Given the description of an element on the screen output the (x, y) to click on. 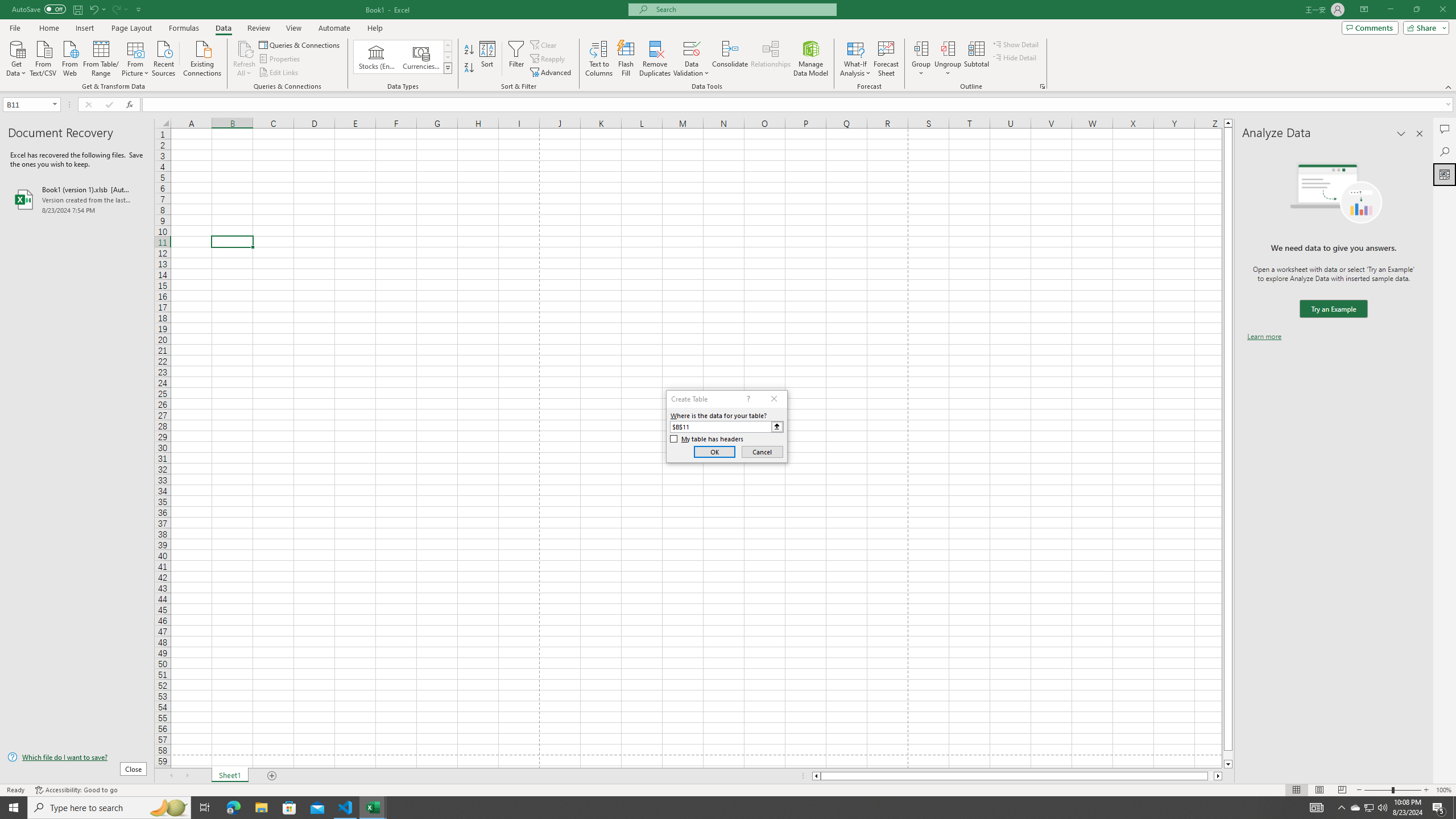
Learn more (1264, 336)
Sort Z to A (469, 67)
Sort... (487, 58)
Relationships (770, 58)
Filter (515, 58)
